Given the description of an element on the screen output the (x, y) to click on. 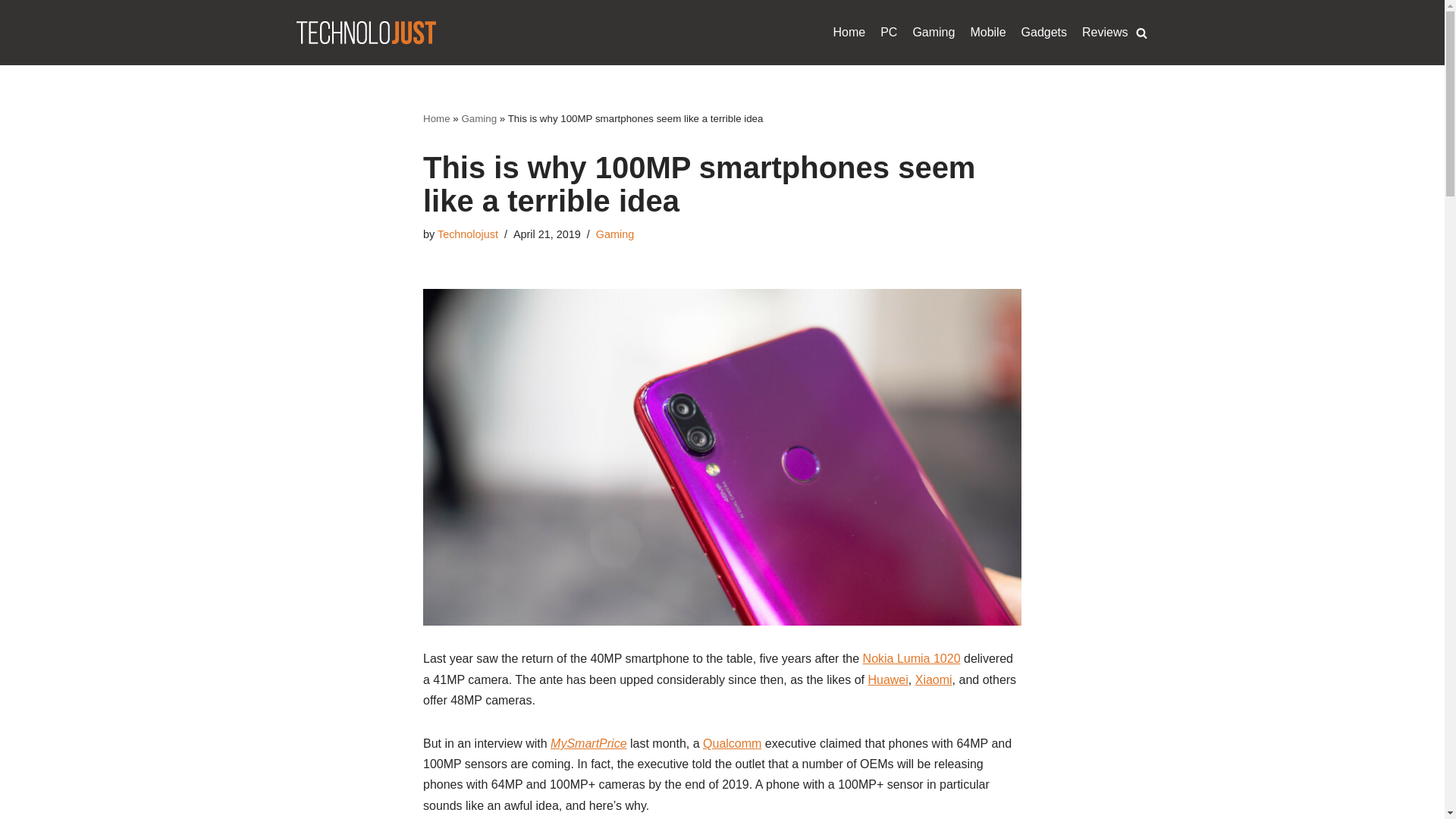
MySmartPrice (588, 743)
Gaming (933, 32)
Gaming (478, 118)
Reviews (1103, 32)
Mobile (987, 32)
Home (848, 32)
Gaming (614, 234)
Gadgets (1044, 32)
Posts by Technolojust (467, 234)
Xiaomi (933, 679)
Nokia Lumia 1020 (911, 658)
Qualcomm (732, 743)
Home (436, 118)
Huawei (887, 679)
Technolojust (467, 234)
